Given the description of an element on the screen output the (x, y) to click on. 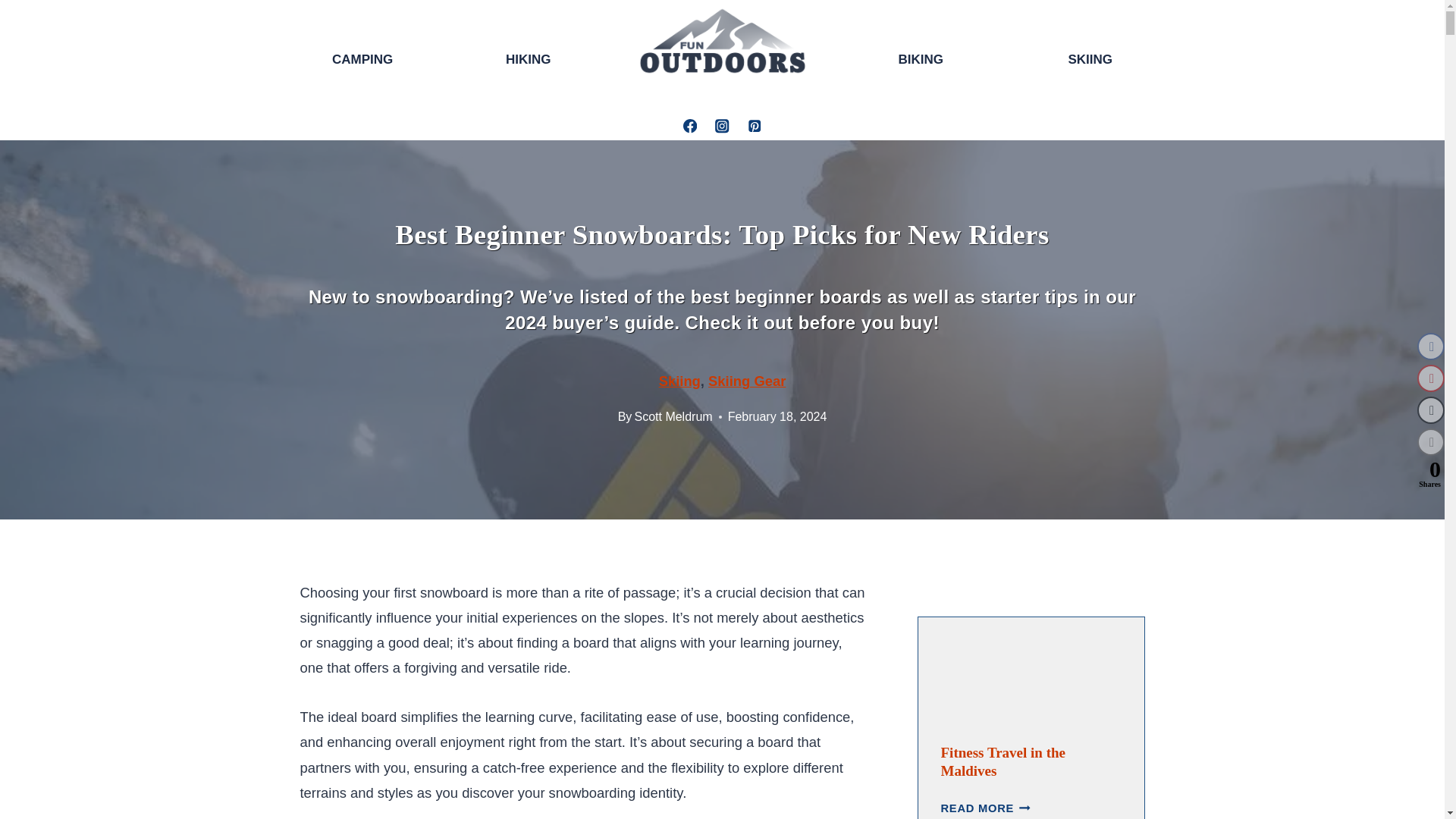
SKIING (1089, 60)
Skiing Gear (746, 381)
BIKING (920, 60)
Skiing (679, 381)
HIKING (528, 59)
CAMPING (362, 59)
